Given the description of an element on the screen output the (x, y) to click on. 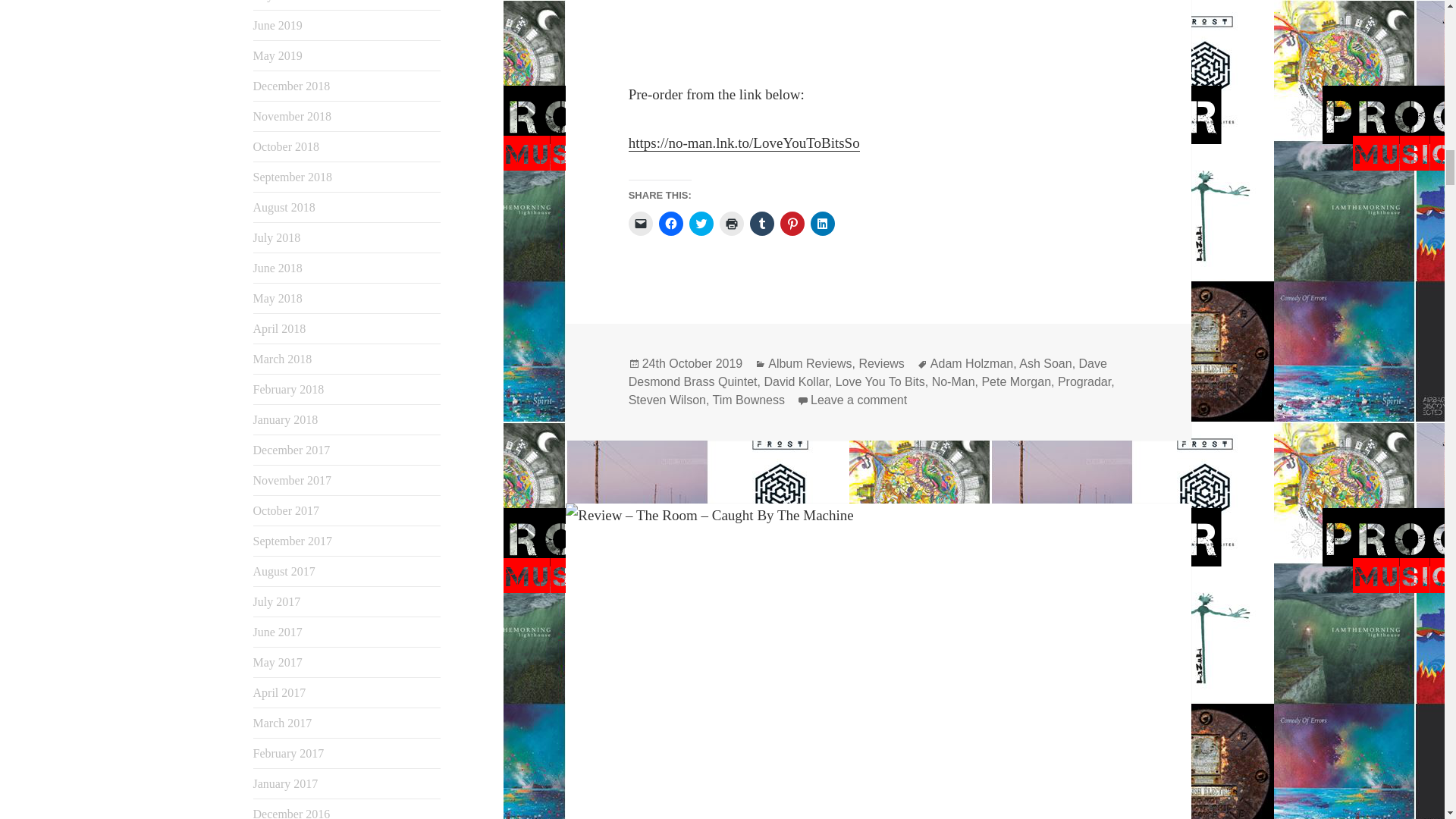
Click to share on LinkedIn (822, 223)
Click to share on Tumblr (761, 223)
Click to share on Facebook (670, 223)
Click to print (731, 223)
Click to share on Pinterest (792, 223)
Click to share on Twitter (700, 223)
Click to email a link to a friend (640, 223)
